Given the description of an element on the screen output the (x, y) to click on. 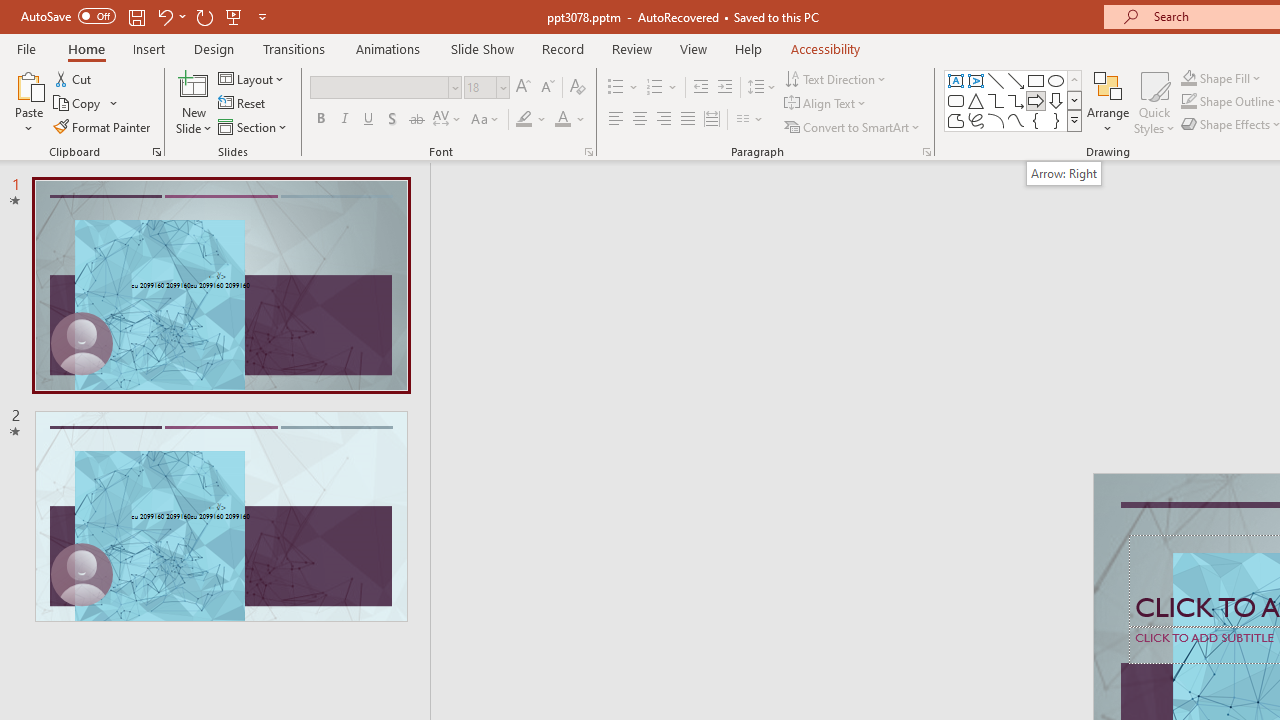
Paragraph... (926, 151)
Font... (588, 151)
Character Spacing (447, 119)
Decrease Font Size (547, 87)
Convert to SmartArt (853, 126)
Connector: Elbow (995, 100)
Strikethrough (416, 119)
